Given the description of an element on the screen output the (x, y) to click on. 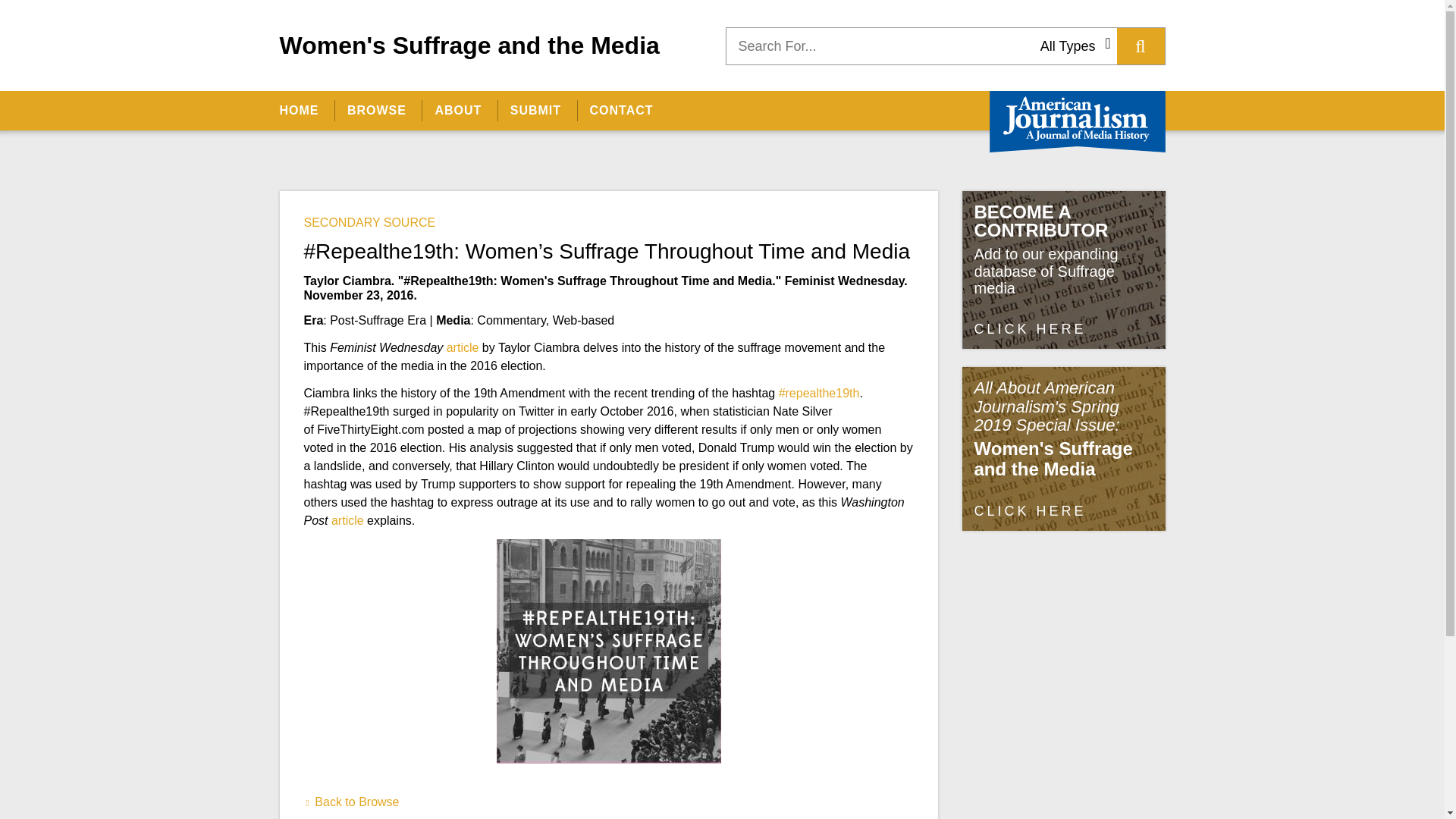
SUBMIT (535, 110)
CONTACT (620, 110)
HOME (304, 110)
ABOUT (457, 110)
American Journalism: A Journal of Media History (1076, 121)
BROWSE (376, 110)
Back to Browse (350, 801)
article (347, 520)
